Given the description of an element on the screen output the (x, y) to click on. 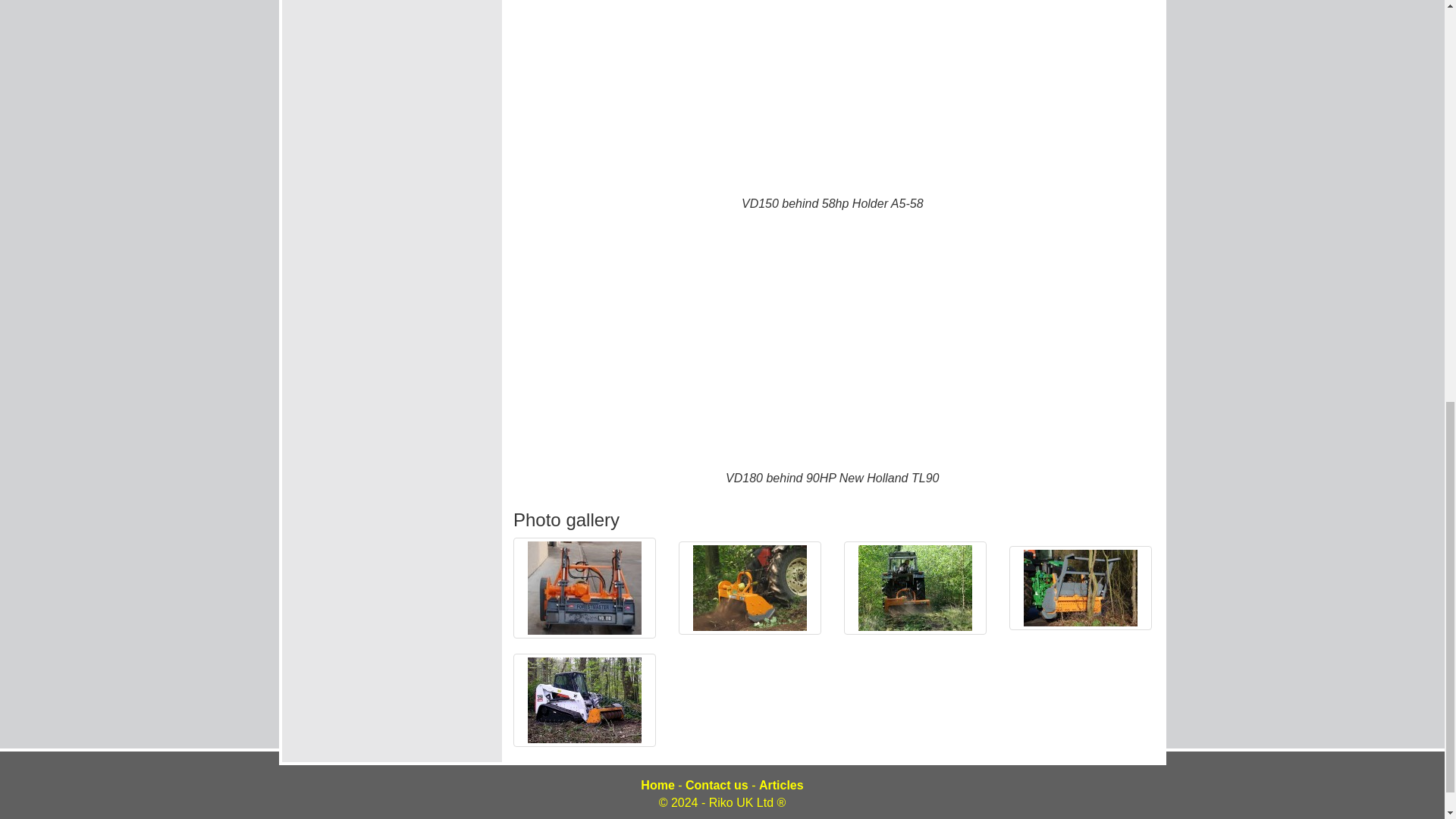
Home (657, 784)
Contact us (716, 784)
Articles (780, 784)
